Given the description of an element on the screen output the (x, y) to click on. 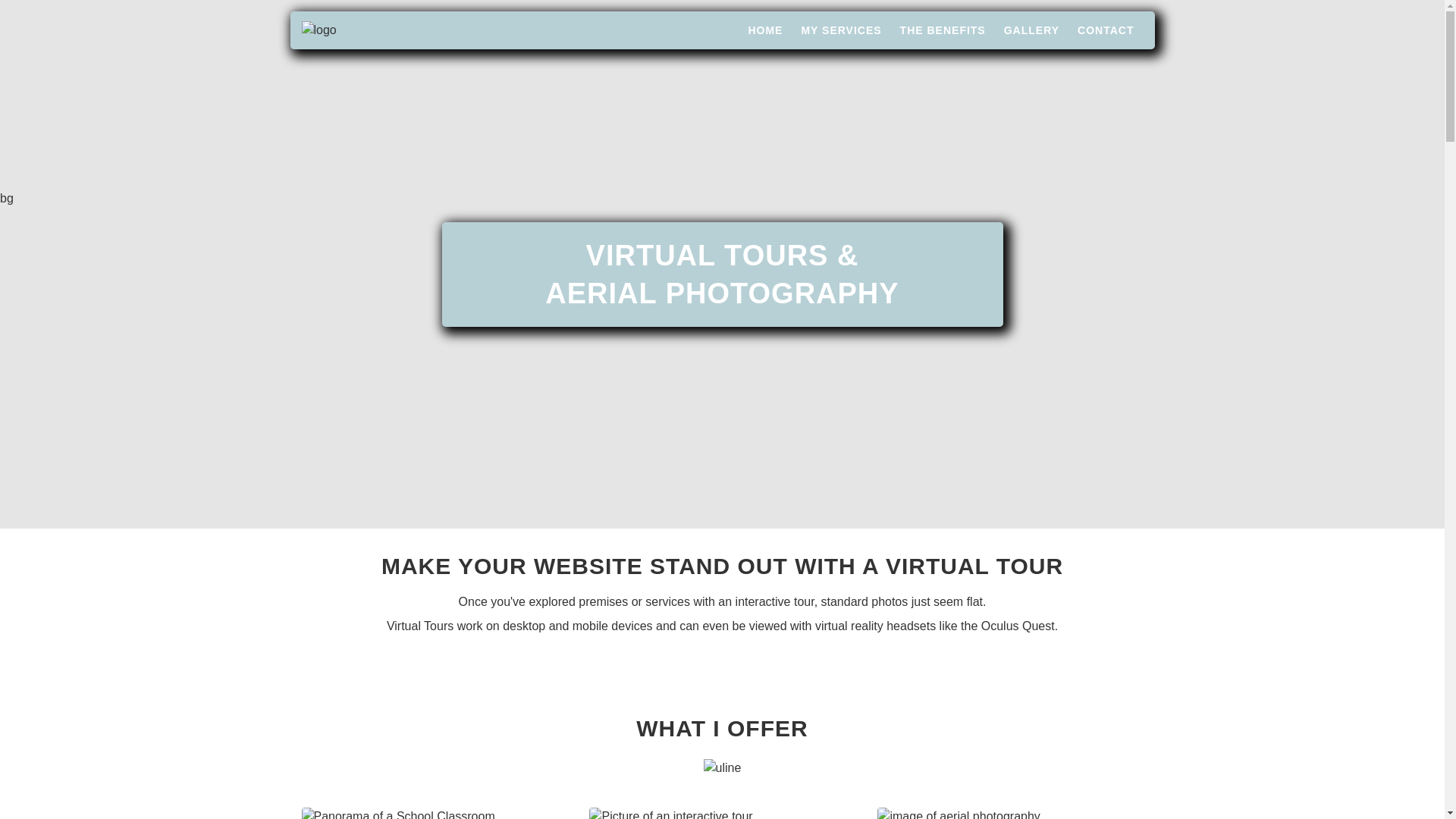
bg (6, 197)
CONTACT (1105, 30)
THE BENEFITS (942, 30)
HOME (765, 30)
HOME (765, 30)
MY SERVICES (840, 30)
CONTACT (1105, 30)
MY SERVICES (840, 30)
THE BENEFITS (942, 30)
GALLERY (1031, 30)
